Given the description of an element on the screen output the (x, y) to click on. 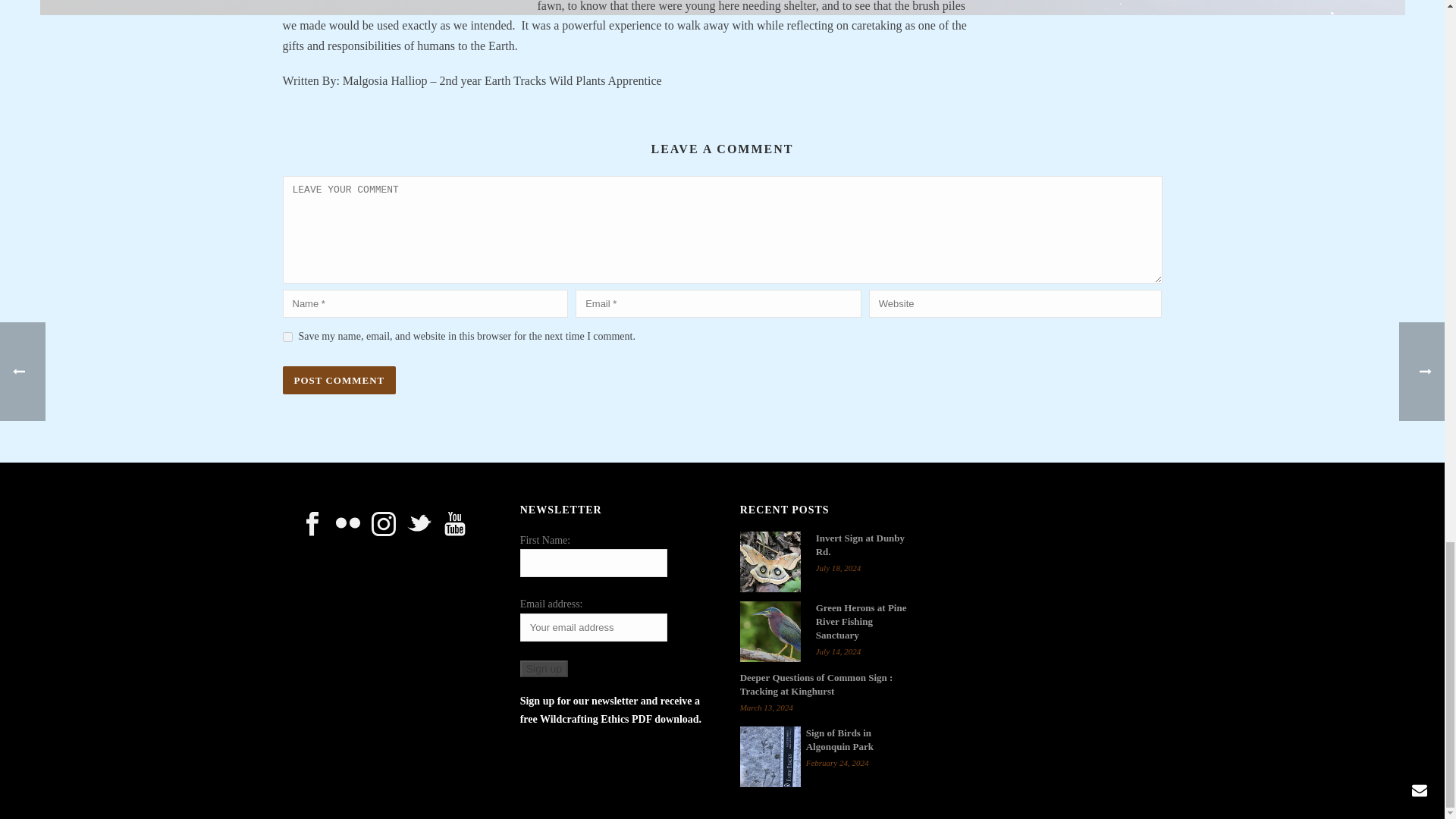
Sign of Birds in Algonquin Park (769, 756)
Follow Us on instagram (383, 524)
Follow Us on facebook (311, 524)
Follow Us on flickr (347, 524)
Green Herons at Pine River Fishing Sanctuary (769, 631)
Invert Sign at Dunby Rd. (769, 561)
POST COMMENT (339, 379)
Sign up (543, 668)
Follow Us on twitter (418, 524)
Follow Us on youtube (454, 524)
